Given the description of an element on the screen output the (x, y) to click on. 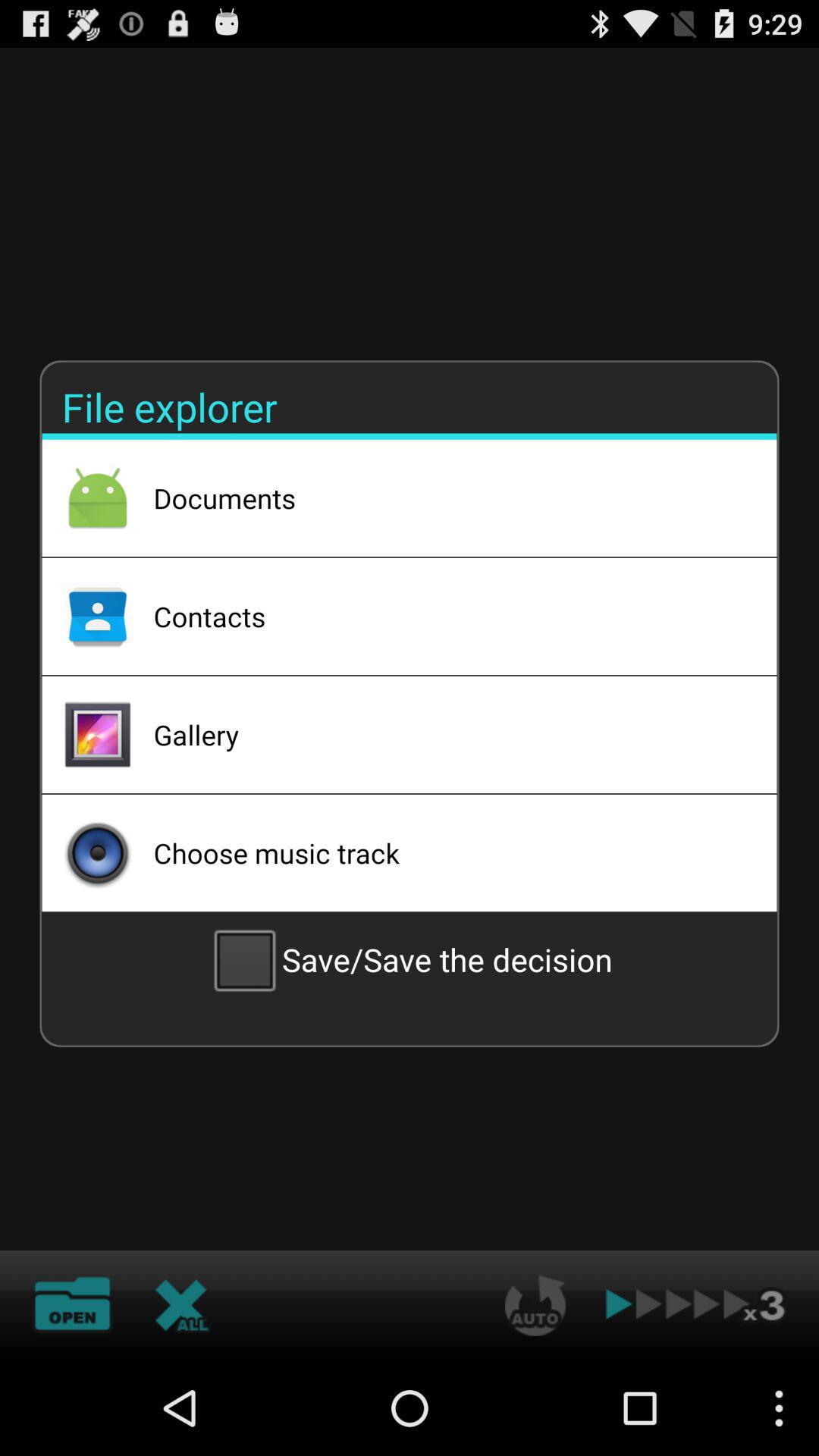
turn off choose music track (445, 852)
